Given the description of an element on the screen output the (x, y) to click on. 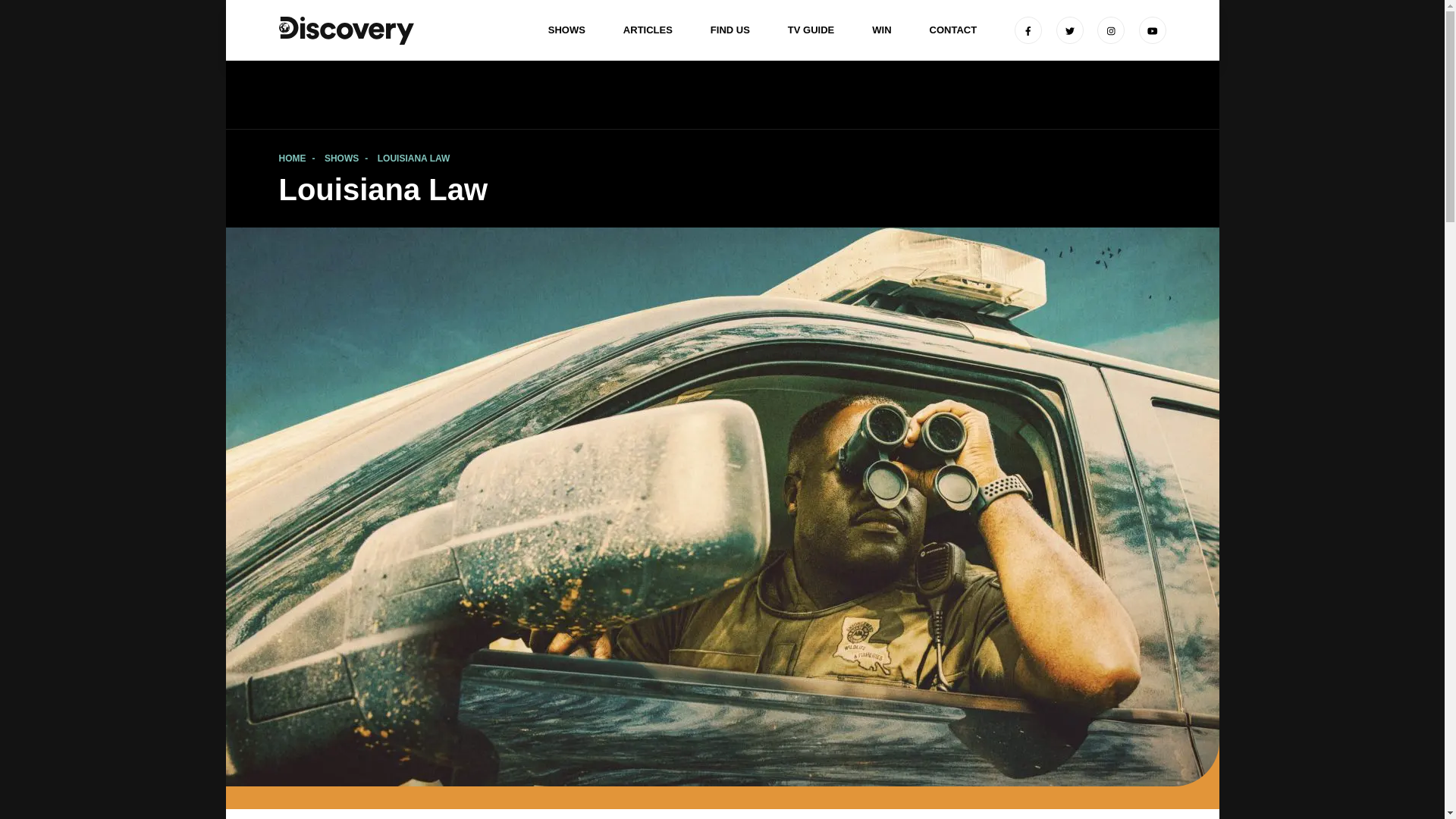
SHOWS (566, 30)
FIND US (729, 30)
ARTICLES (647, 30)
TV GUIDE (810, 30)
CONTACT (953, 30)
WIN (881, 30)
